Given the description of an element on the screen output the (x, y) to click on. 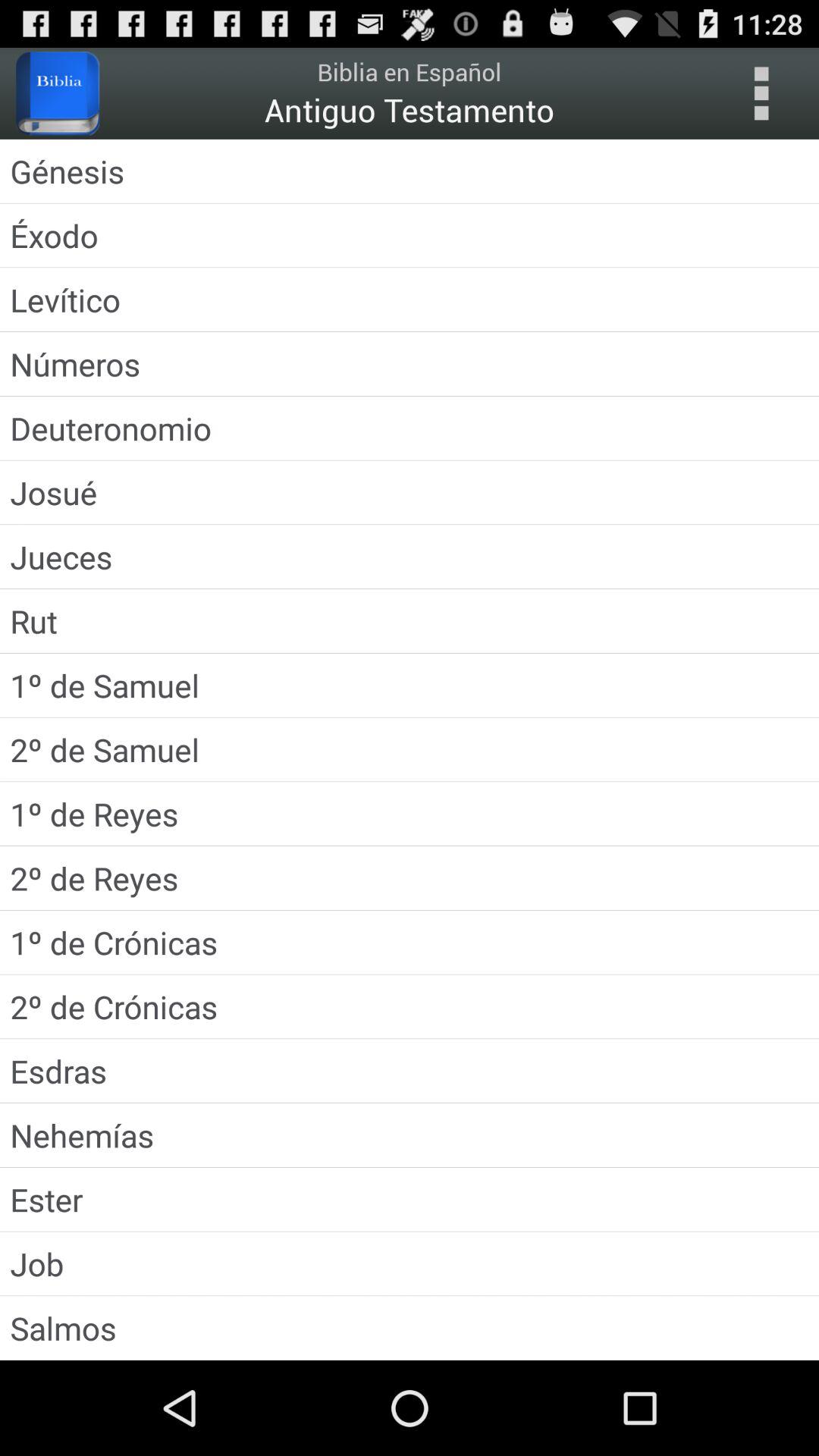
click rut item (409, 620)
